Given the description of an element on the screen output the (x, y) to click on. 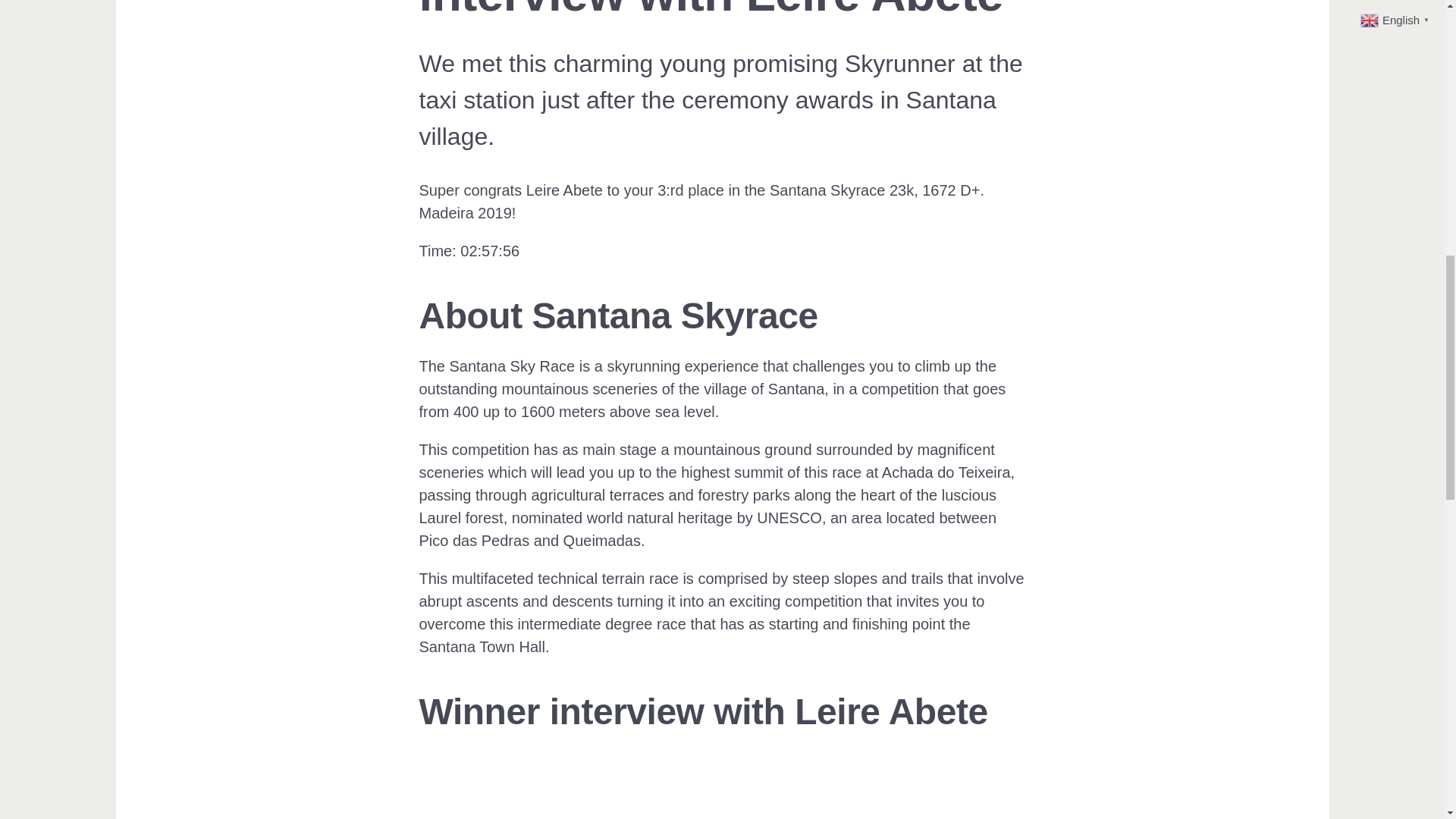
Santana Skyrace 2019 interview with Leire Abete (722, 790)
